Given the description of an element on the screen output the (x, y) to click on. 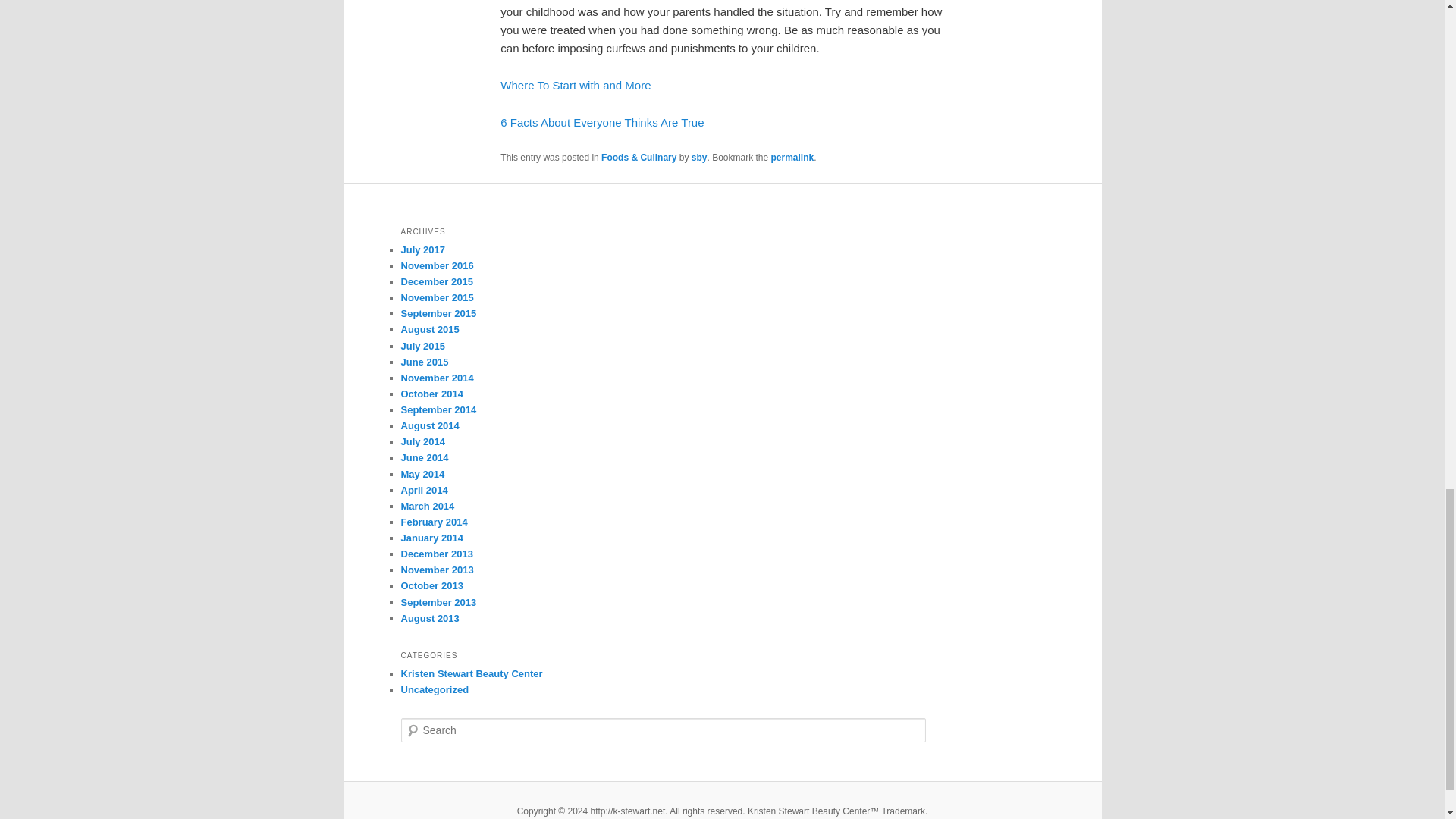
View all posts filed under Uncategorized (434, 689)
September 2015 (438, 313)
April 2014 (423, 490)
June 2014 (424, 457)
September 2014 (438, 409)
6 Facts About Everyone Thinks Are True (601, 122)
December 2015 (435, 281)
November 2015 (436, 297)
sby (699, 157)
permalink (792, 157)
January 2014 (431, 537)
October 2014 (431, 393)
Where To Start with and More (575, 84)
View all posts filed under Kristen Stewart Beauty Center (470, 673)
December 2013 (435, 553)
